Given the description of an element on the screen output the (x, y) to click on. 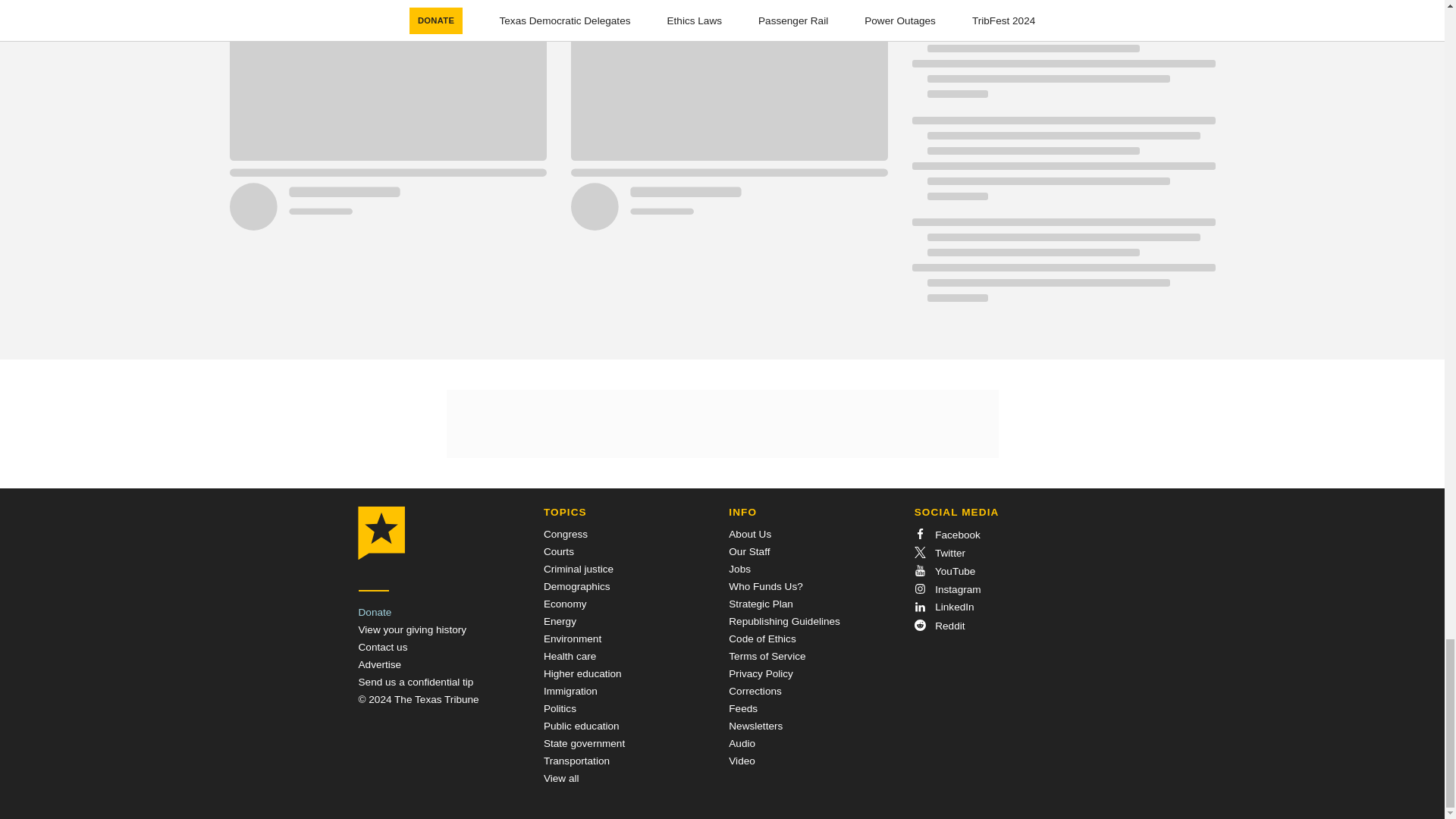
Video (742, 760)
Contact us (382, 646)
Donate (374, 612)
Audio (742, 743)
Strategic Plan (761, 603)
Loading indicator (1062, 166)
Send a Tip (415, 681)
About Us (750, 533)
Who Funds Us? (765, 586)
Republishing Guidelines (784, 621)
Newsletters (756, 726)
Privacy Policy (761, 673)
Terms of Service (767, 655)
Corrections (755, 690)
Loading indicator (1062, 5)
